Given the description of an element on the screen output the (x, y) to click on. 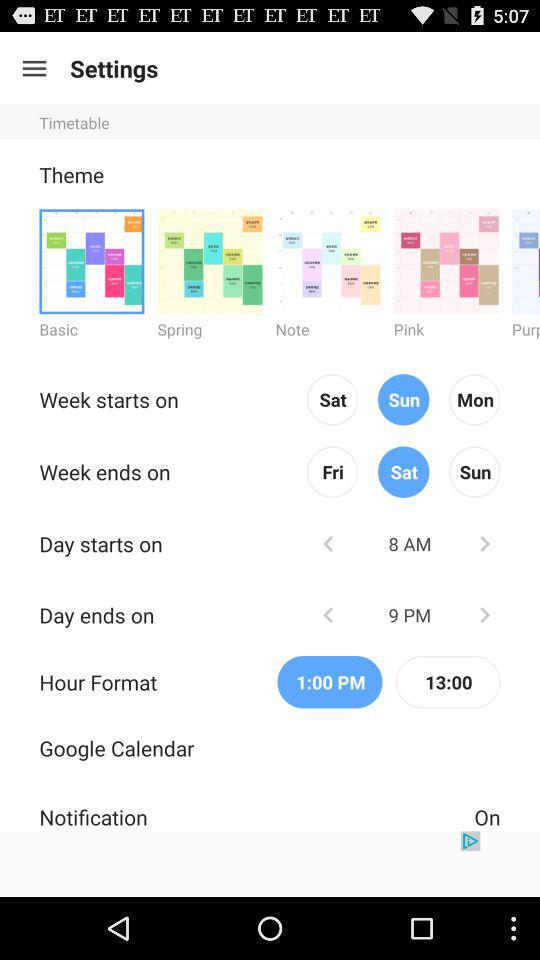
toggle the theme option (91, 260)
